Given the description of an element on the screen output the (x, y) to click on. 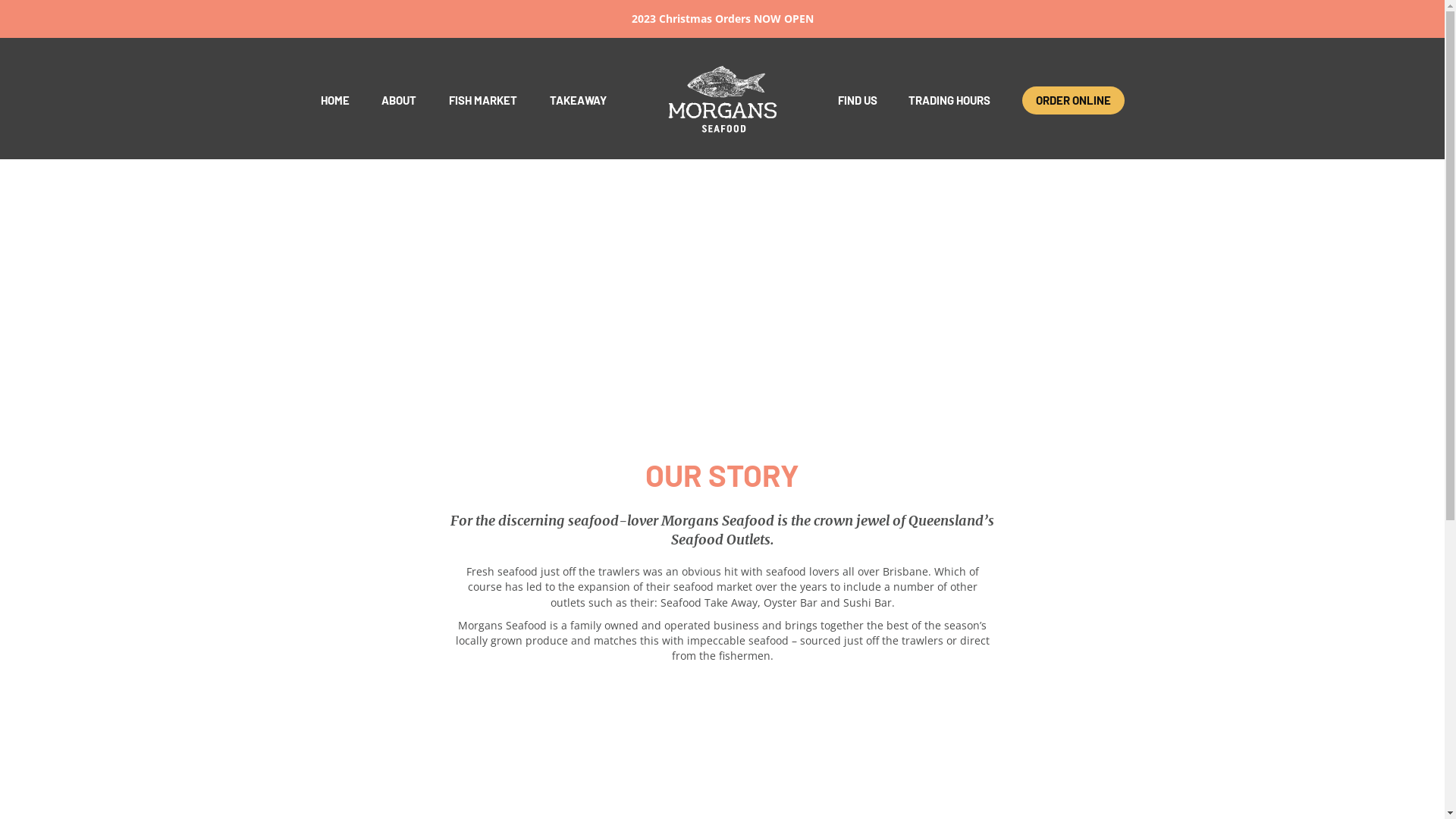
TRADING HOURS Element type: text (949, 99)
ABOUT Element type: text (398, 99)
TAKEAWAY Element type: text (577, 99)
Morgans Seafood_Logo_Web_White-01 Element type: hover (722, 100)
FIND US Element type: text (857, 99)
HOME Element type: text (334, 99)
ORDER ONLINE Element type: text (1073, 100)
2023 Christmas Orders NOW OPEN Element type: text (721, 18)
FISH MARKET Element type: text (482, 99)
